Given the description of an element on the screen output the (x, y) to click on. 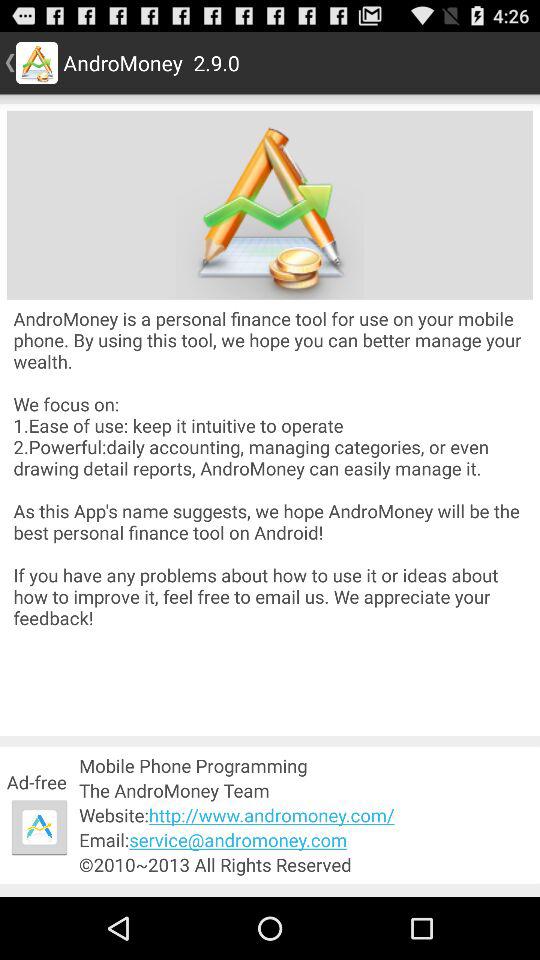
select the website http www (306, 814)
